Given the description of an element on the screen output the (x, y) to click on. 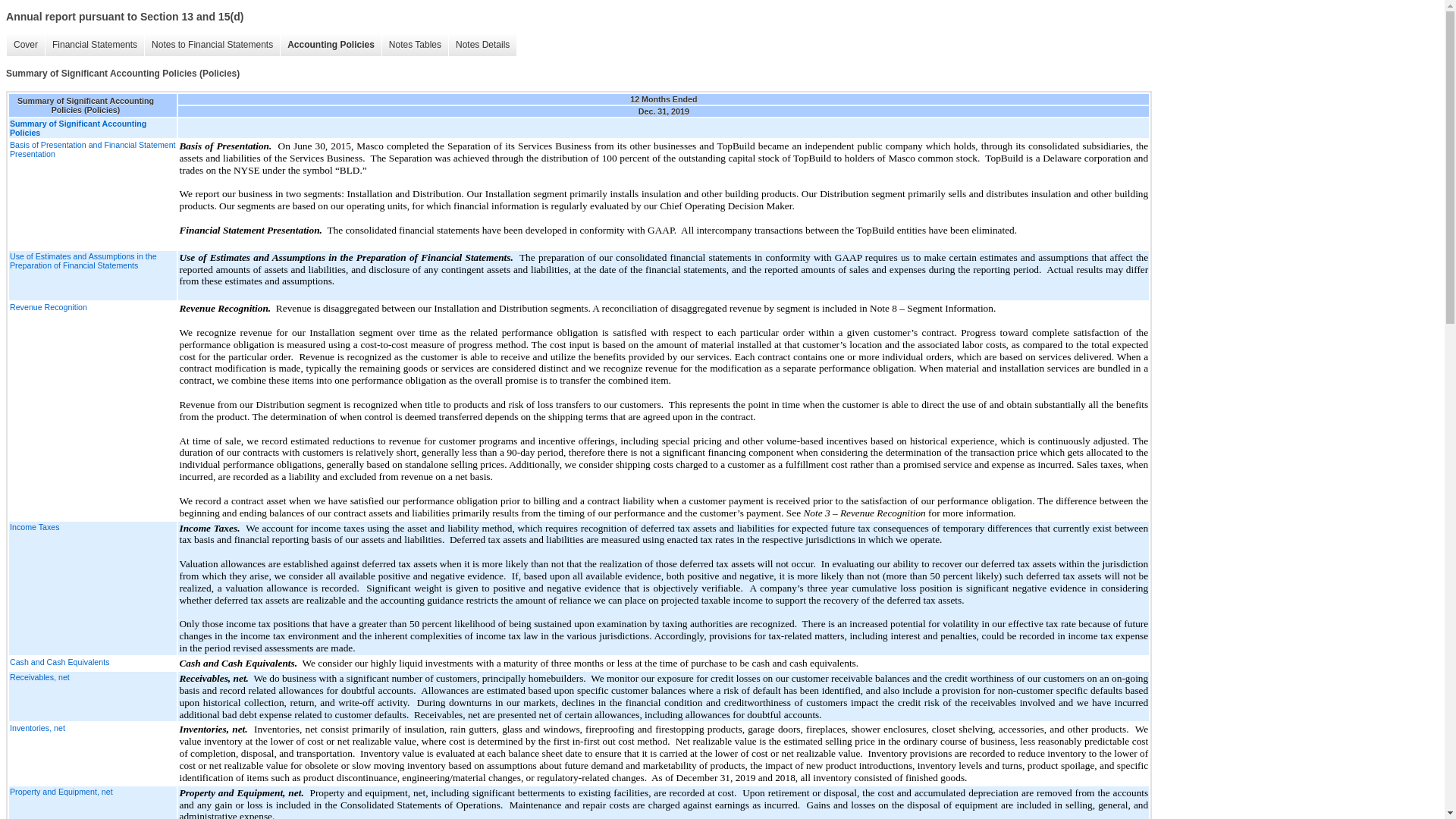
Cover (25, 44)
Notes to Financial Statements (211, 44)
Notes Tables (414, 44)
Accounting Policies (330, 44)
Financial Statements (94, 44)
